Given the description of an element on the screen output the (x, y) to click on. 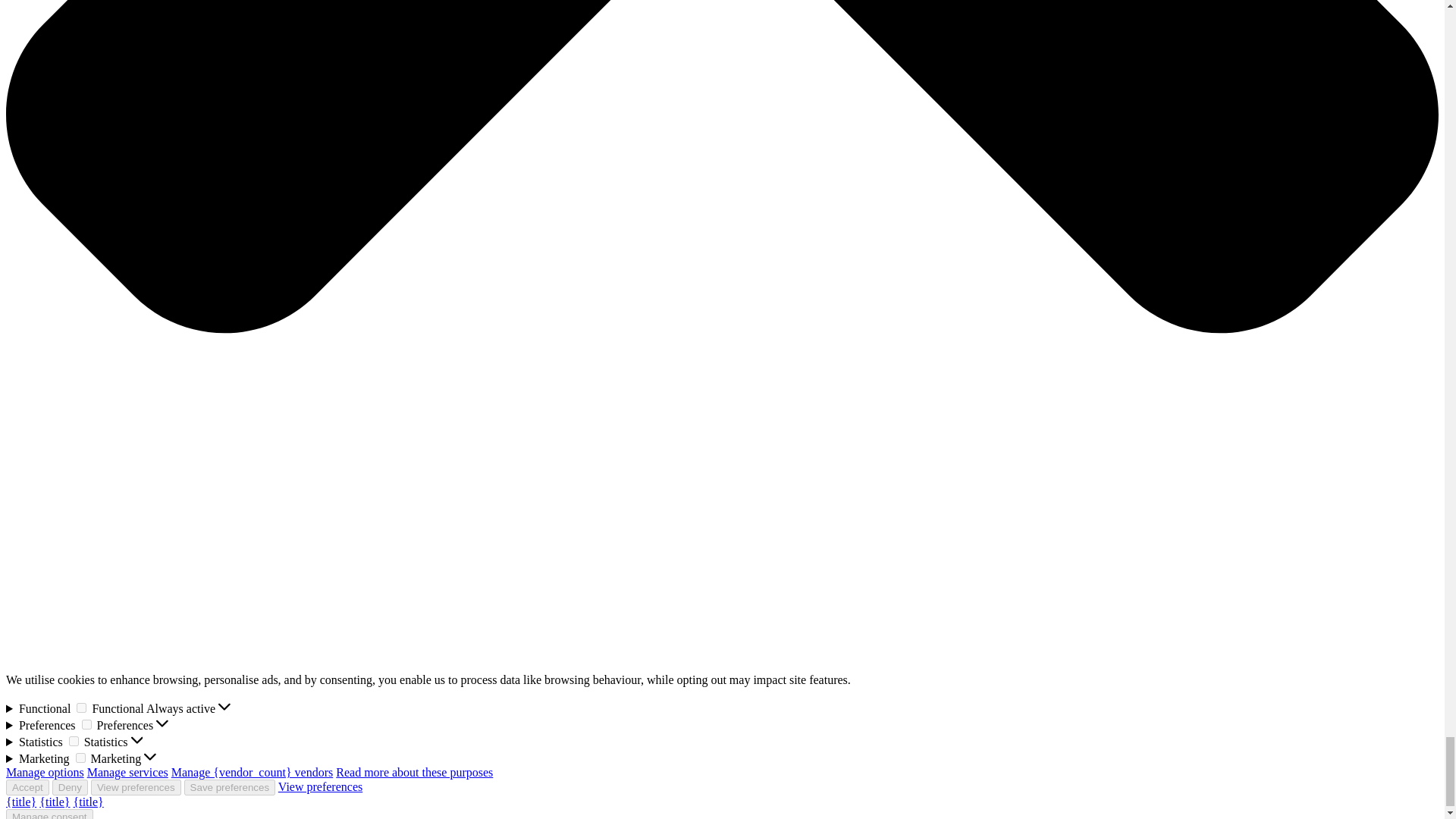
1 (81, 707)
1 (80, 757)
1 (73, 741)
1 (86, 724)
